Given the description of an element on the screen output the (x, y) to click on. 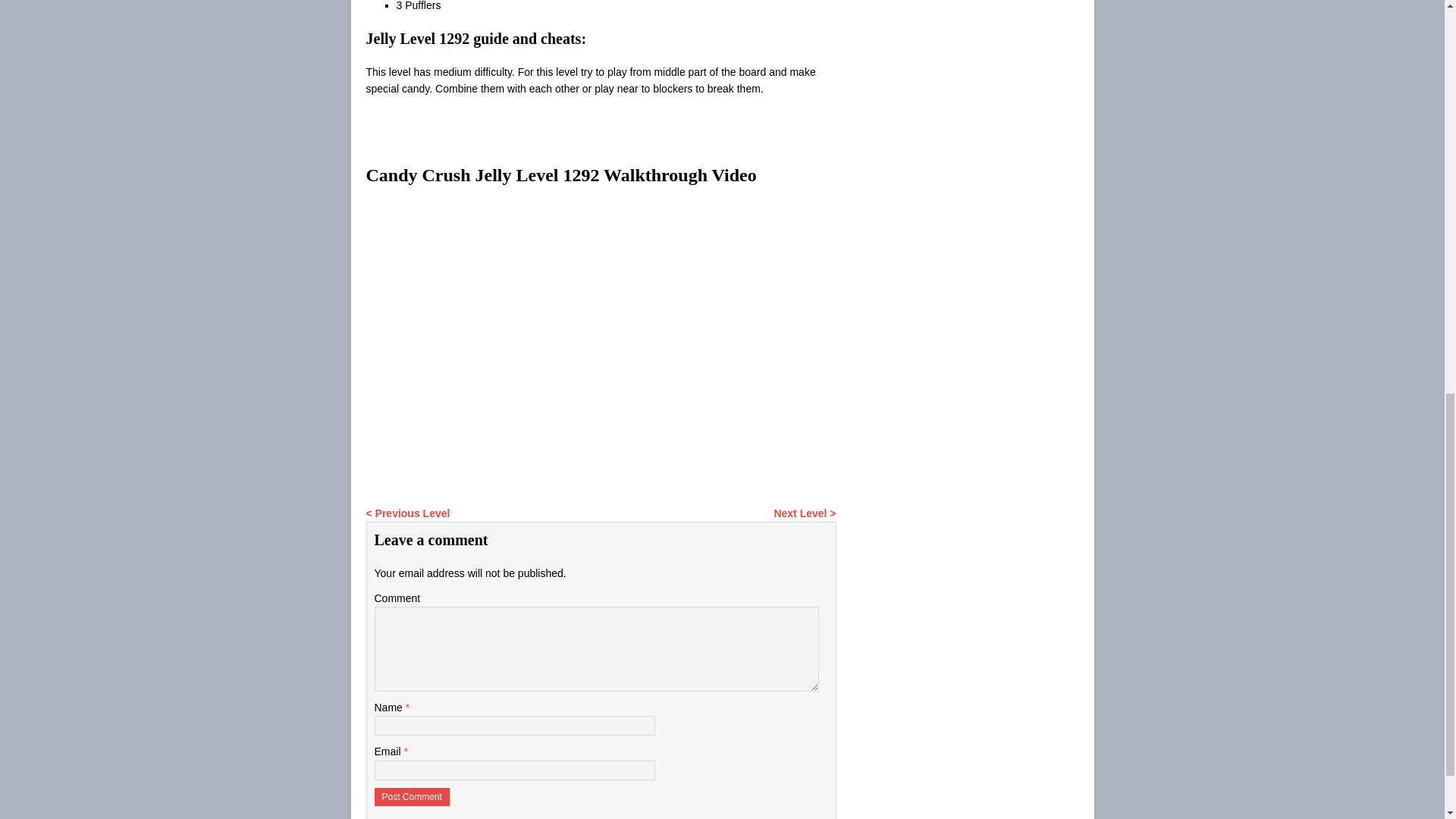
Post Comment (411, 796)
Post Comment (411, 796)
